Given the description of an element on the screen output the (x, y) to click on. 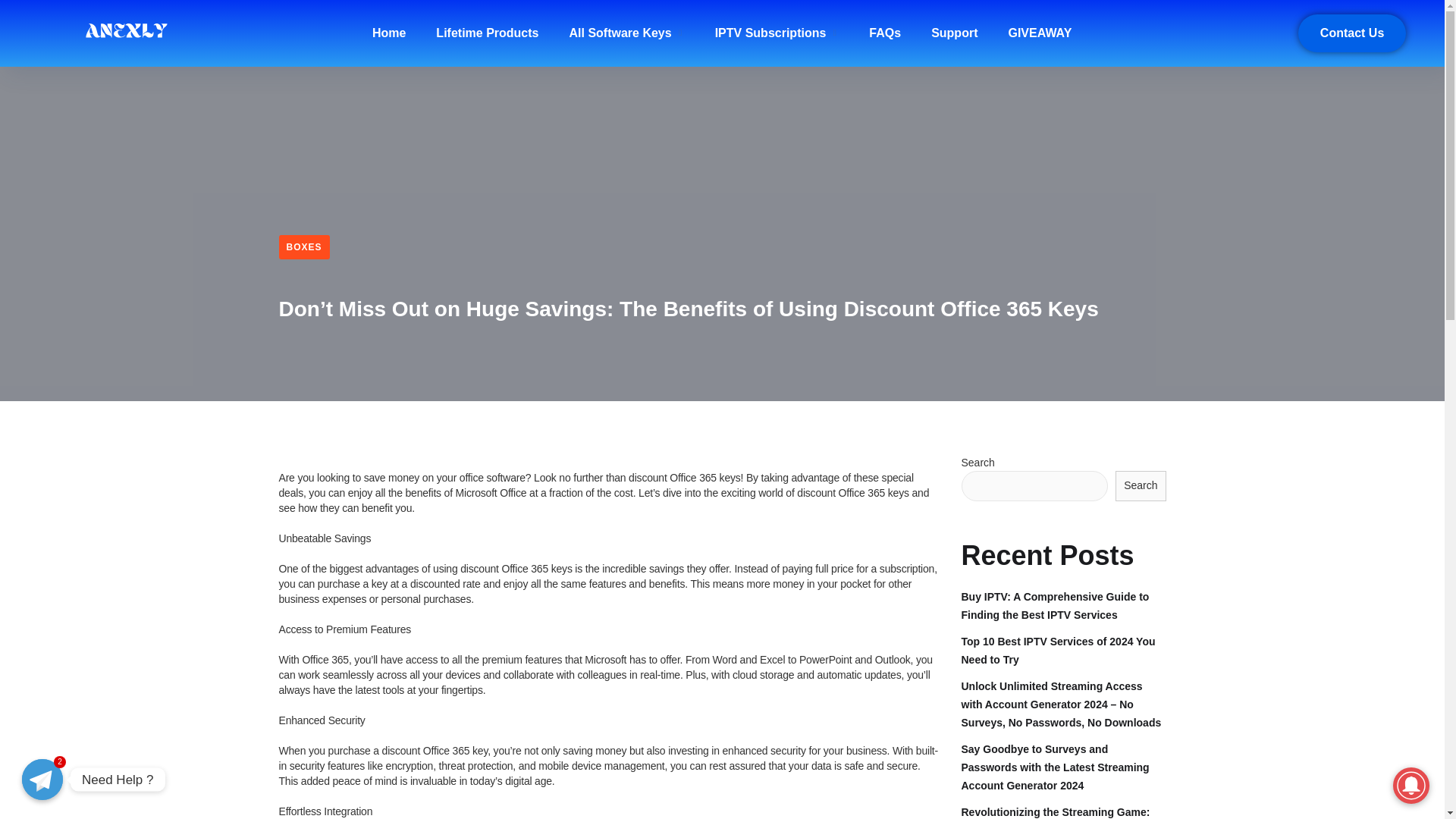
BOXES (304, 247)
IPTV Subscriptions (777, 32)
Lifetime Products (486, 32)
Support (953, 32)
Contact Us (1352, 33)
GIVEAWAY (1039, 32)
All Software Keys (626, 32)
